Given the description of an element on the screen output the (x, y) to click on. 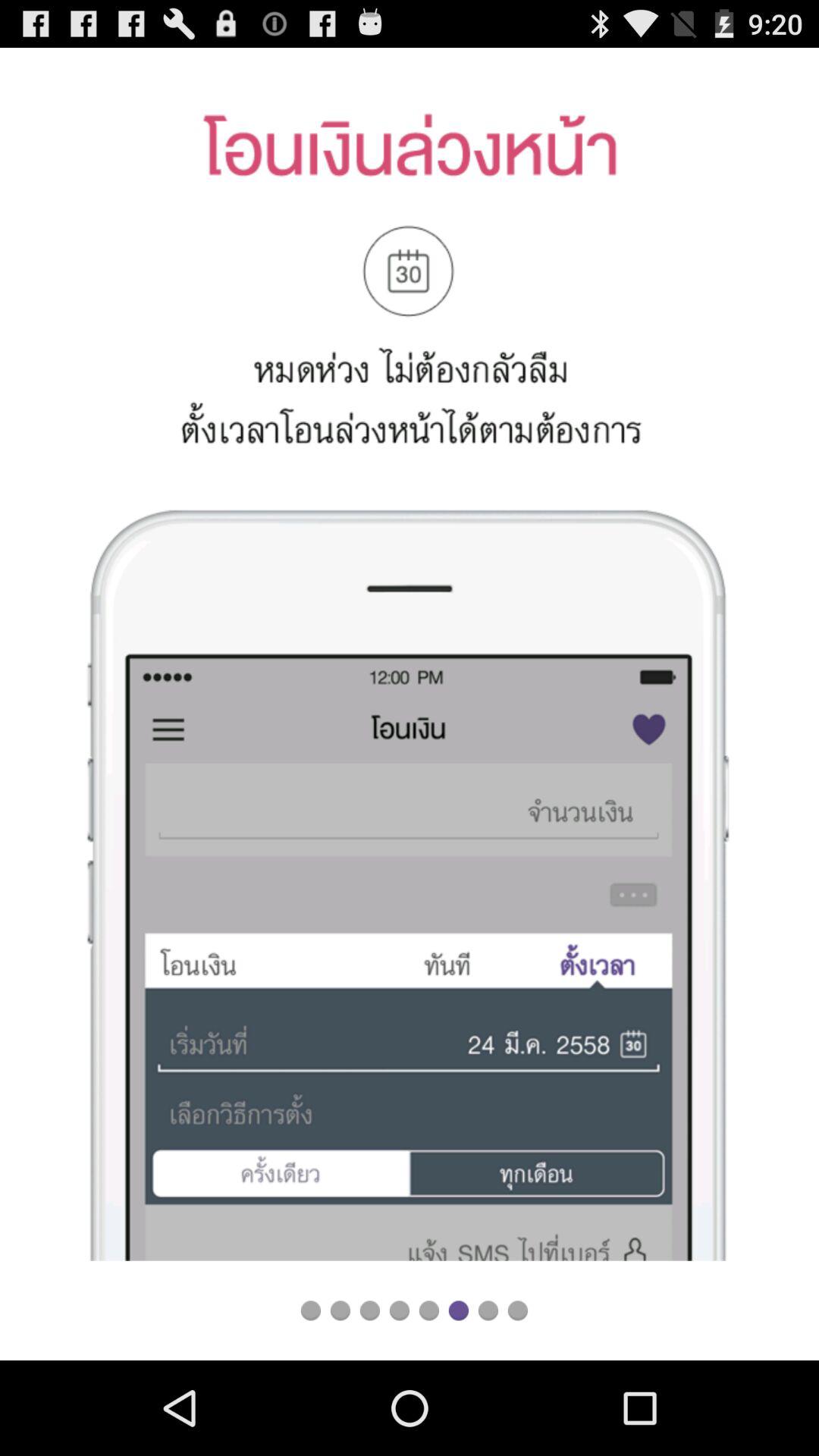
loading to file (399, 1310)
